Given the description of an element on the screen output the (x, y) to click on. 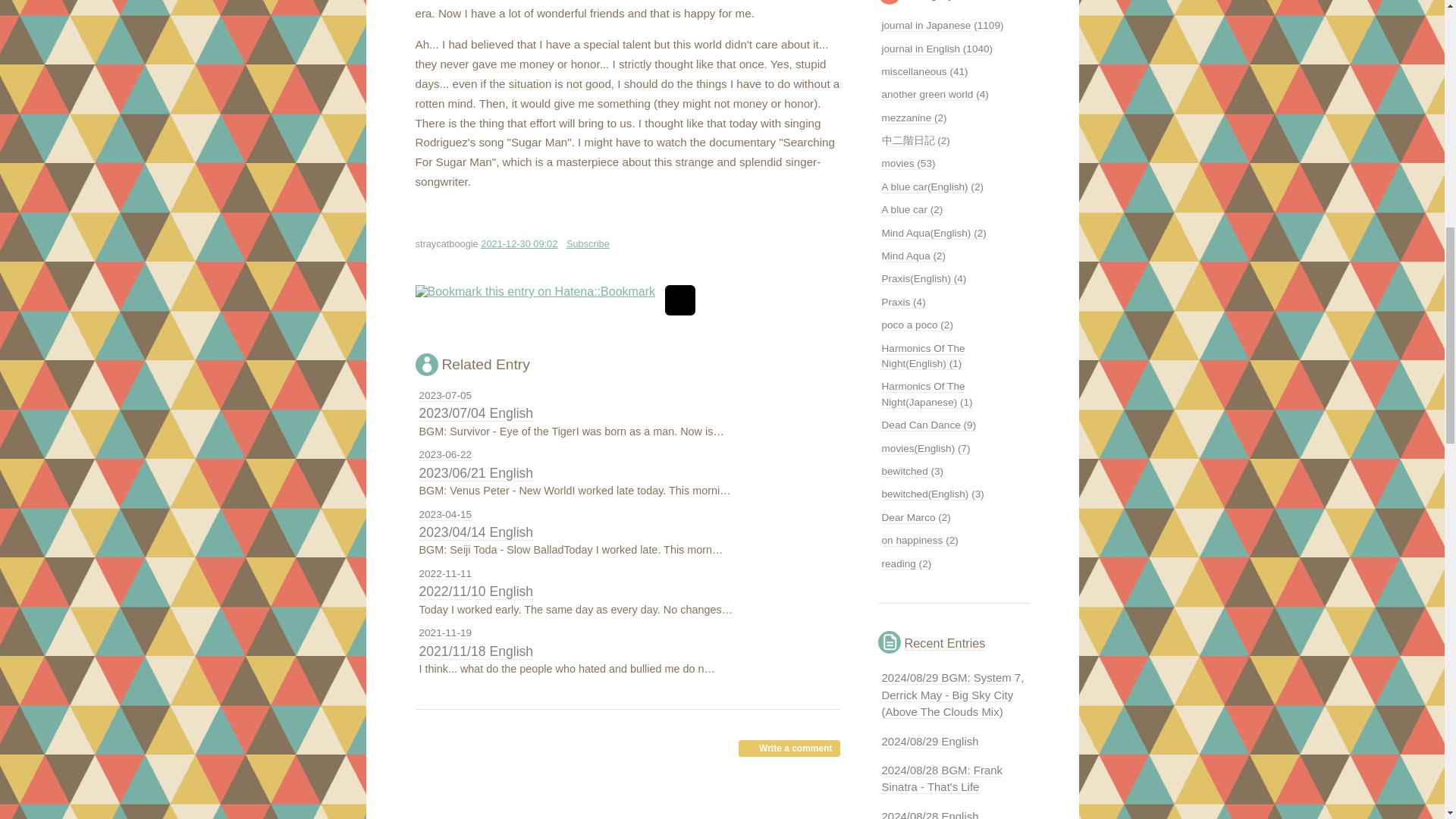
2021-12-30T00:02:47Z (518, 243)
2021-11-18T21:37:48Z (445, 632)
2023-06-22 (445, 454)
Bookmark this entry on Hatena::Bookmark (535, 291)
2023-04-14T22:39:12Z (445, 514)
Write a comment (789, 748)
2022-11-11 (445, 573)
Subscribe (588, 243)
watch (671, 142)
2023-07-05 (445, 395)
